Given the description of an element on the screen output the (x, y) to click on. 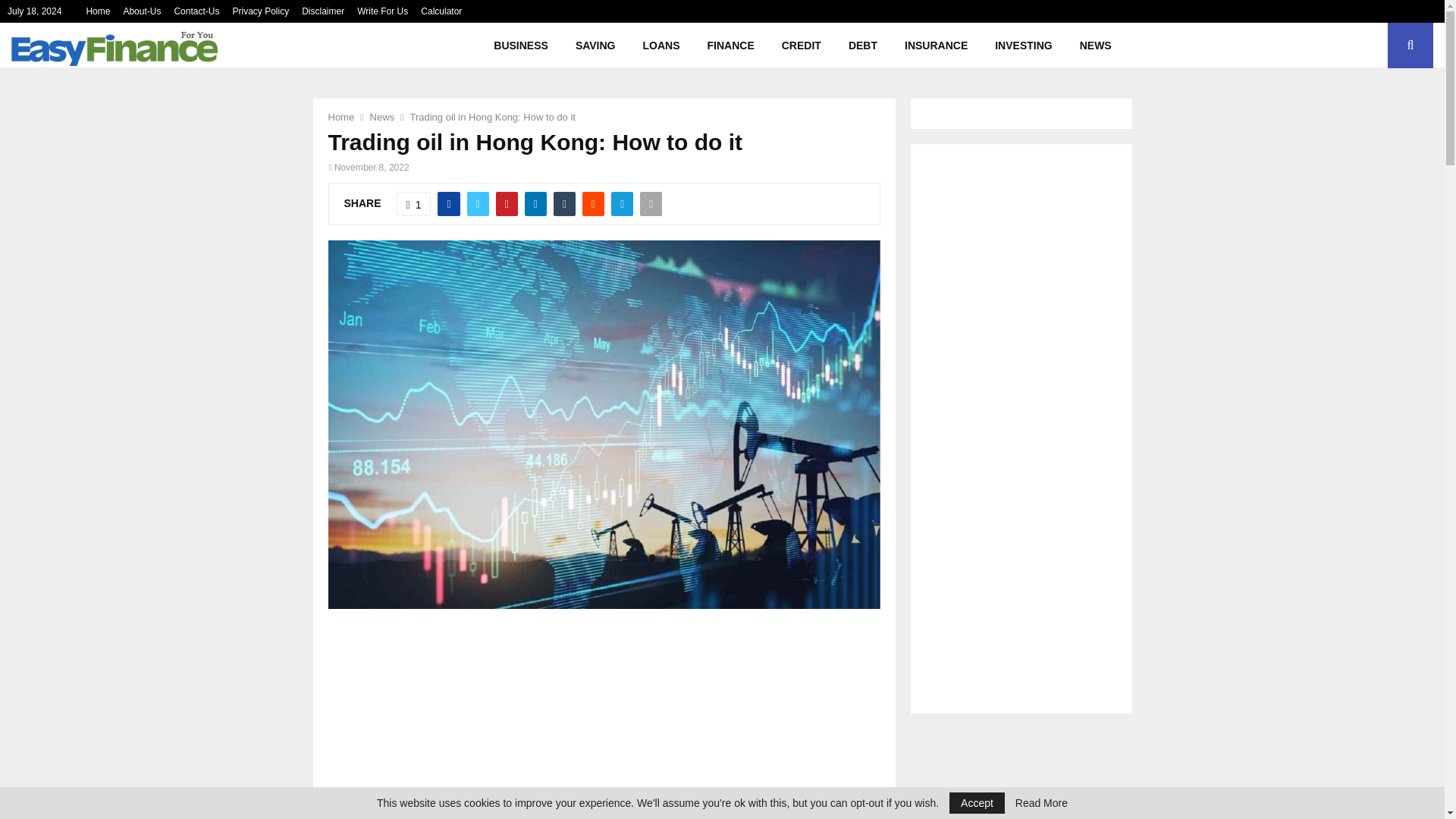
BUSINESS (521, 44)
FINANCE (731, 44)
LOANS (661, 44)
Home (97, 11)
Write For Us (381, 11)
INVESTING (1023, 44)
About-Us (141, 11)
Like (413, 203)
INSURANCE (936, 44)
Privacy Policy (259, 11)
NEWS (1095, 44)
Contact-Us (196, 11)
DEBT (862, 44)
SAVING (595, 44)
News (381, 116)
